Given the description of an element on the screen output the (x, y) to click on. 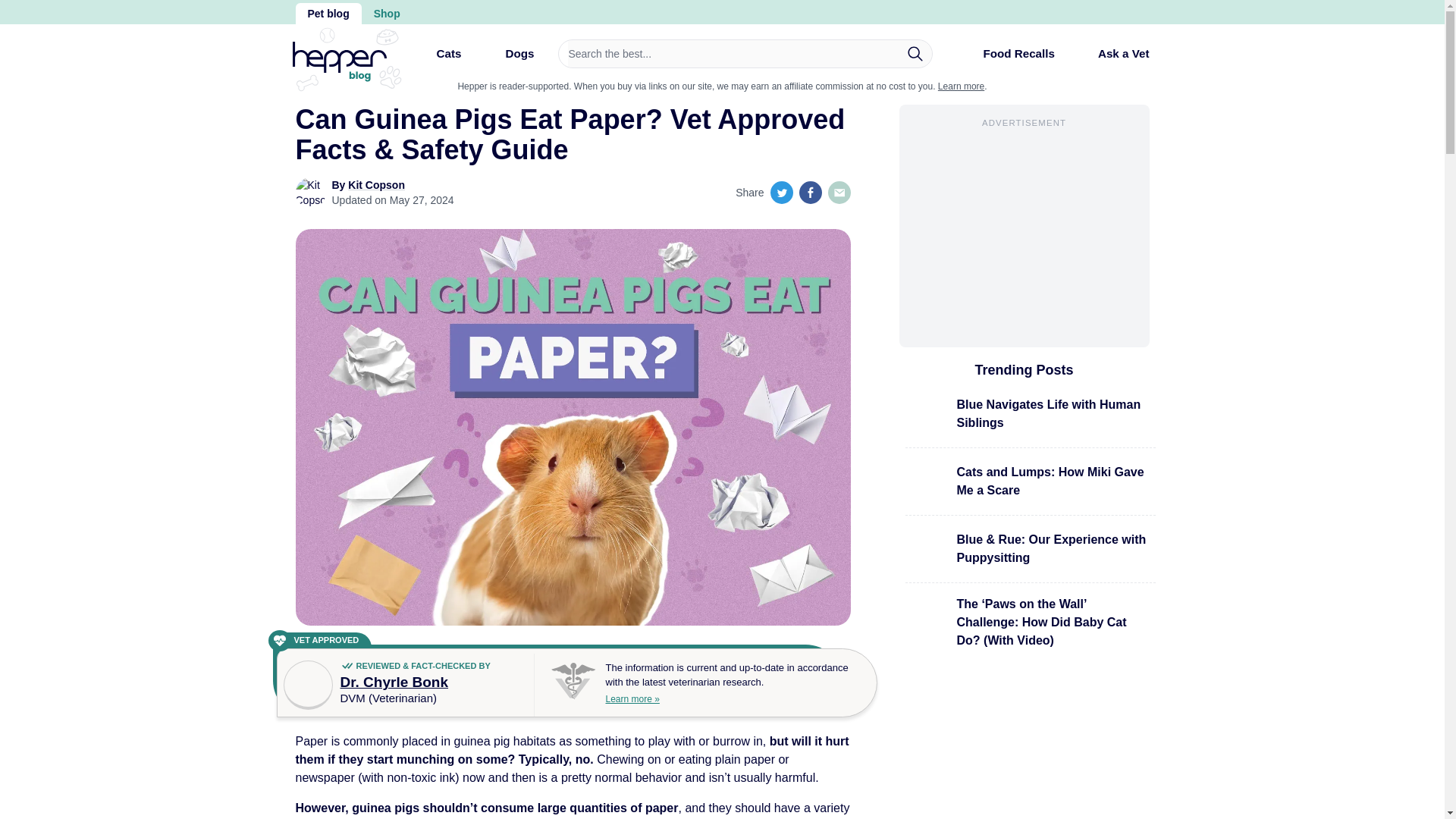
Vet photo (308, 685)
Kit Copson (375, 184)
Cats (435, 59)
Food Recalls (1005, 59)
Dr. Chyrle Bonk (393, 682)
Ask a Vet (1111, 53)
Dogs (506, 59)
Shop (387, 13)
Learn more (960, 86)
